Given the description of an element on the screen output the (x, y) to click on. 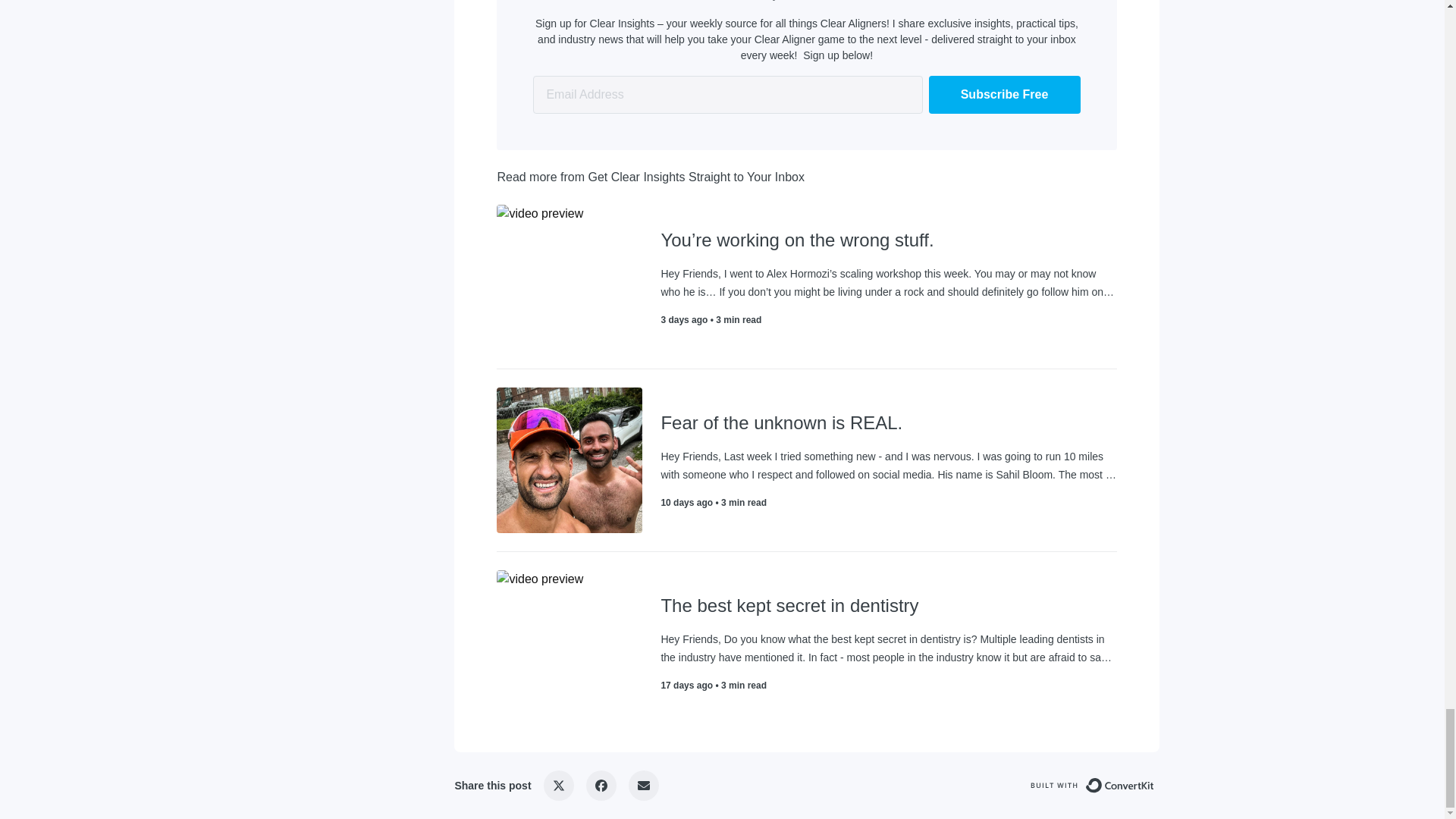
Fear of the unknown is REAL. (888, 422)
The best kept secret in dentistry (888, 605)
Subscribe Free (1004, 94)
